Given the description of an element on the screen output the (x, y) to click on. 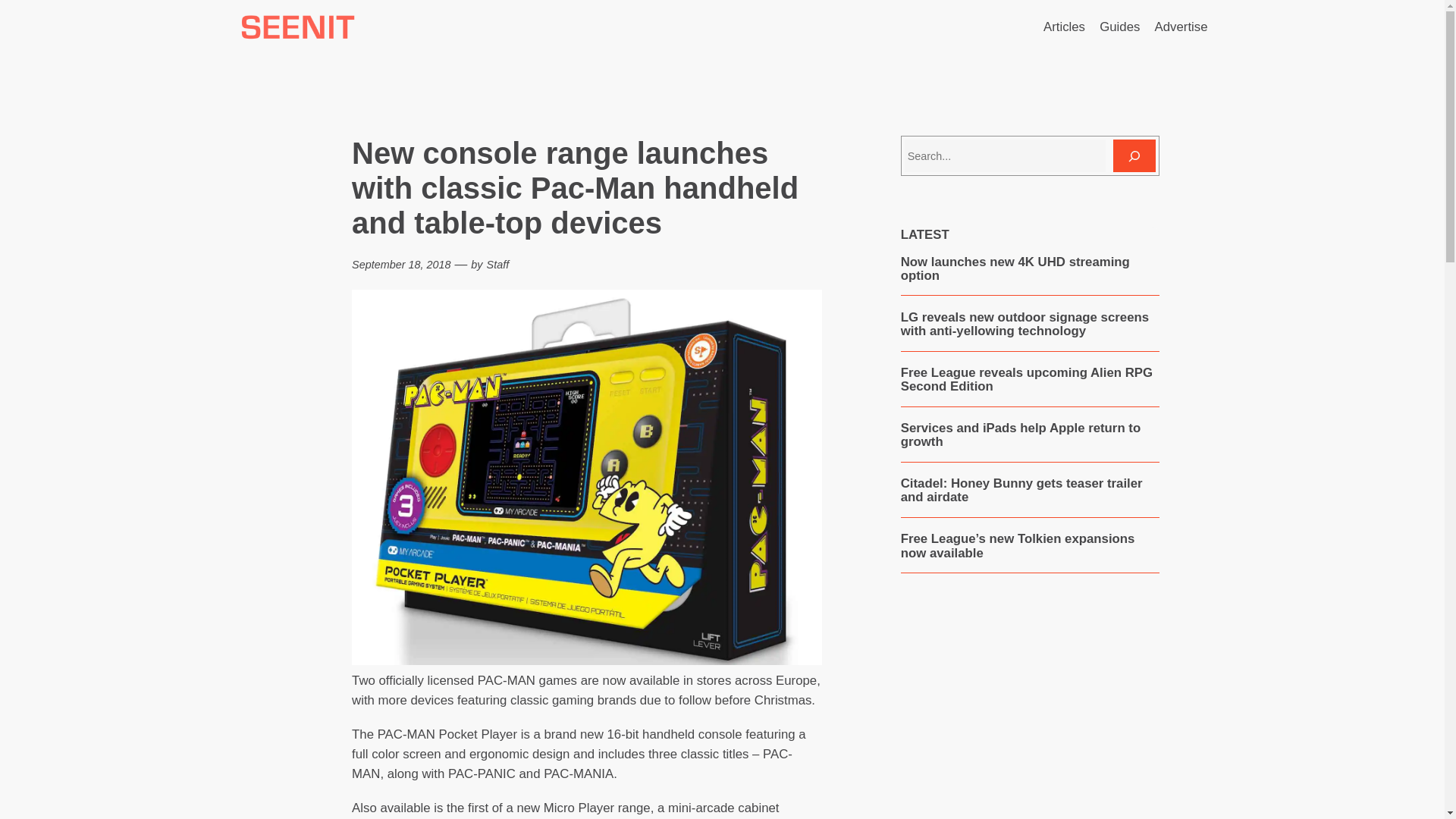
Services and iPads help Apple return to growth (1029, 435)
Advertisement (1028, 712)
Guides (1119, 26)
Articles (1063, 26)
Staff (497, 264)
Citadel: Honey Bunny gets teaser trailer and airdate (1029, 490)
Advertise (1181, 26)
Now launches new 4K UHD streaming option (1029, 269)
Free League reveals upcoming Alien RPG Second Edition (1029, 379)
